Given the description of an element on the screen output the (x, y) to click on. 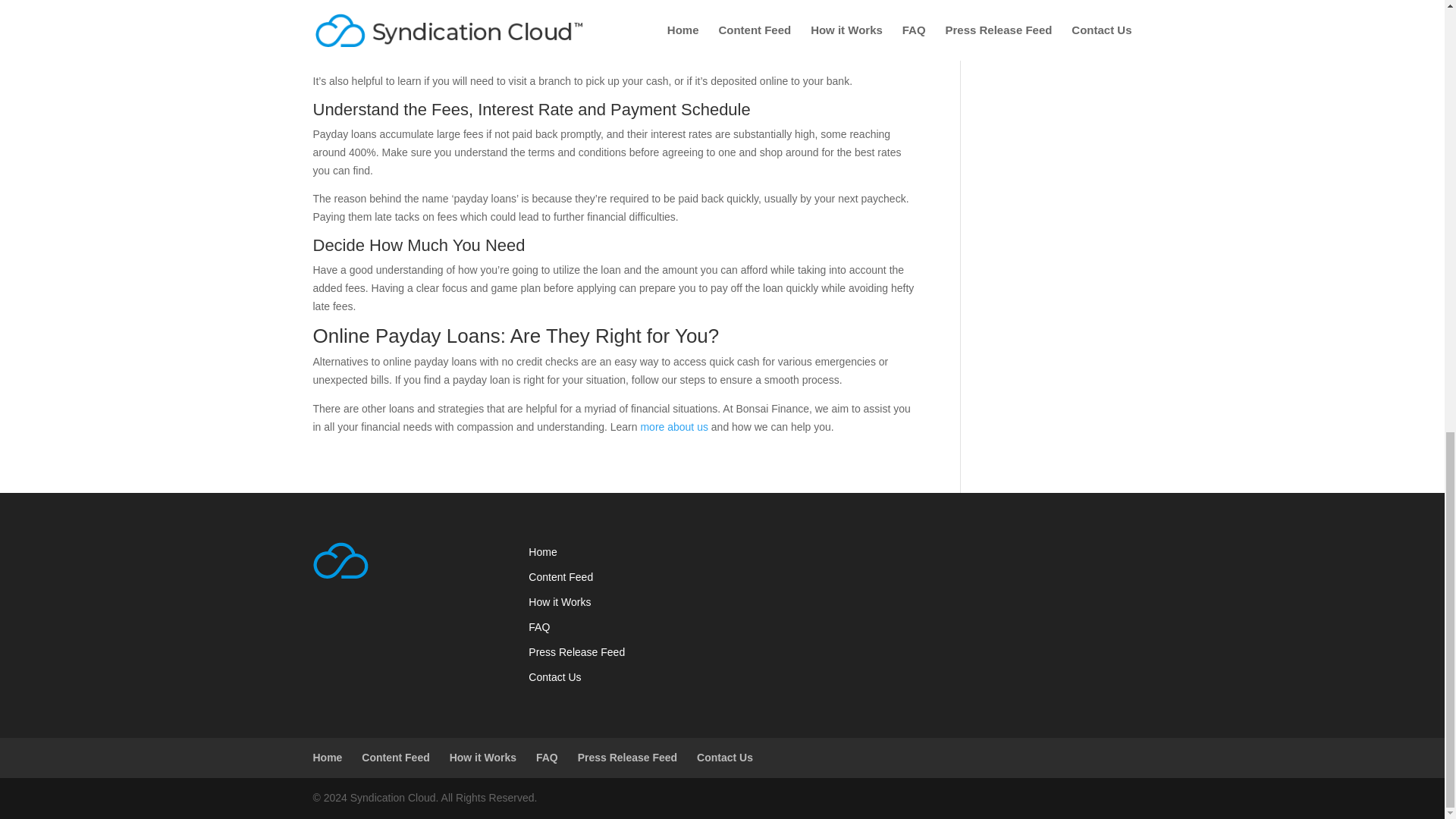
How it Works (559, 602)
Home (327, 757)
Press Release Feed (628, 757)
Press Release Feed (576, 652)
Content Feed (560, 576)
FAQ (539, 626)
unreputable lenders (612, 6)
FAQ (546, 757)
How it Works (482, 757)
Home (542, 551)
